Given the description of an element on the screen output the (x, y) to click on. 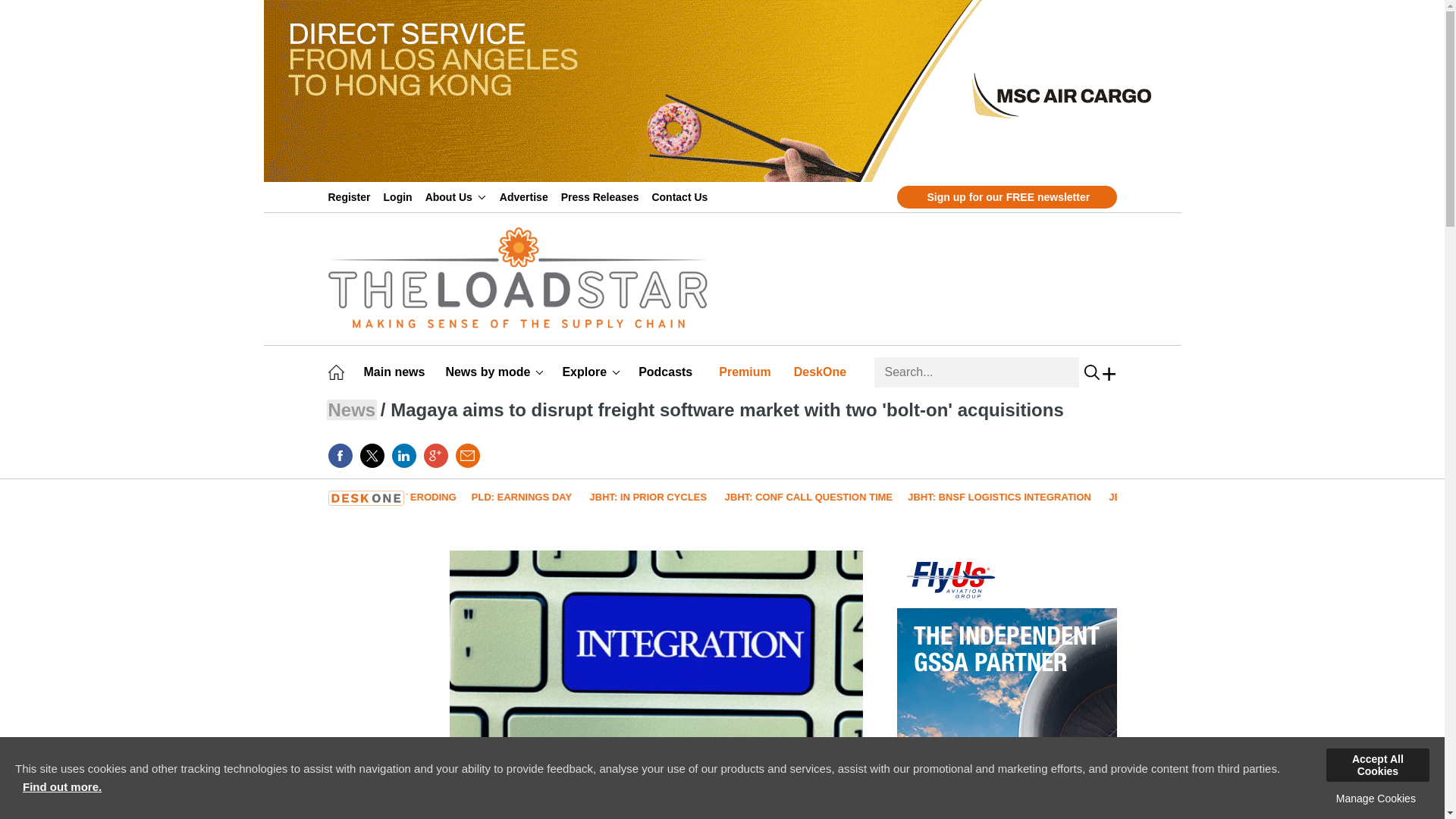
Press Releases (602, 196)
Login (400, 196)
DeskOne (822, 371)
About Us (455, 196)
Advertise (526, 196)
News by mode (494, 371)
Register (351, 196)
Podcasts (668, 371)
Podcasts (668, 371)
Explore (591, 371)
Loadstar Premium (747, 371)
Login (400, 196)
Main news (397, 371)
Contact Us (681, 196)
Register (351, 196)
